Given the description of an element on the screen output the (x, y) to click on. 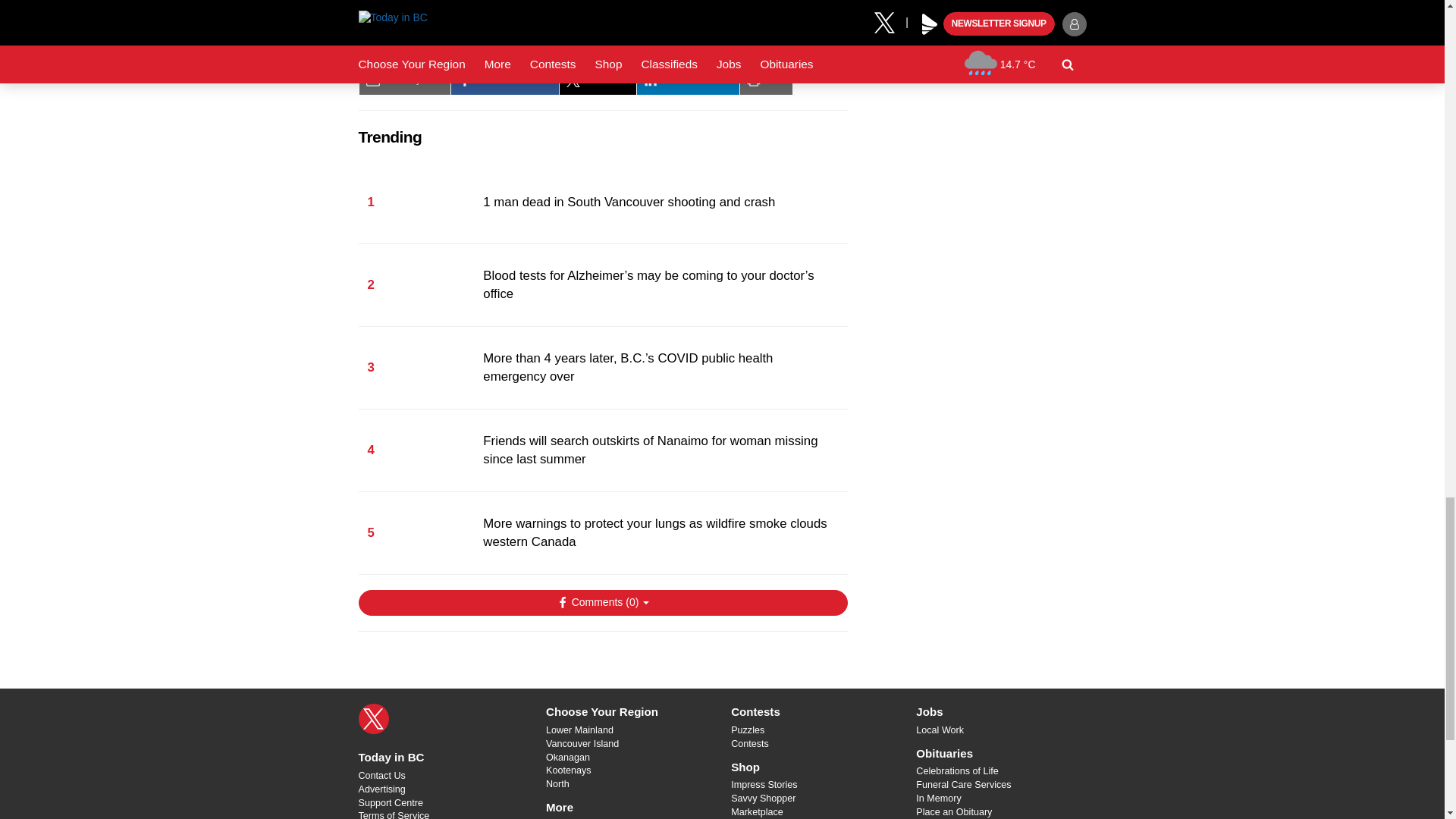
X (373, 718)
Show Comments (602, 602)
